Given the description of an element on the screen output the (x, y) to click on. 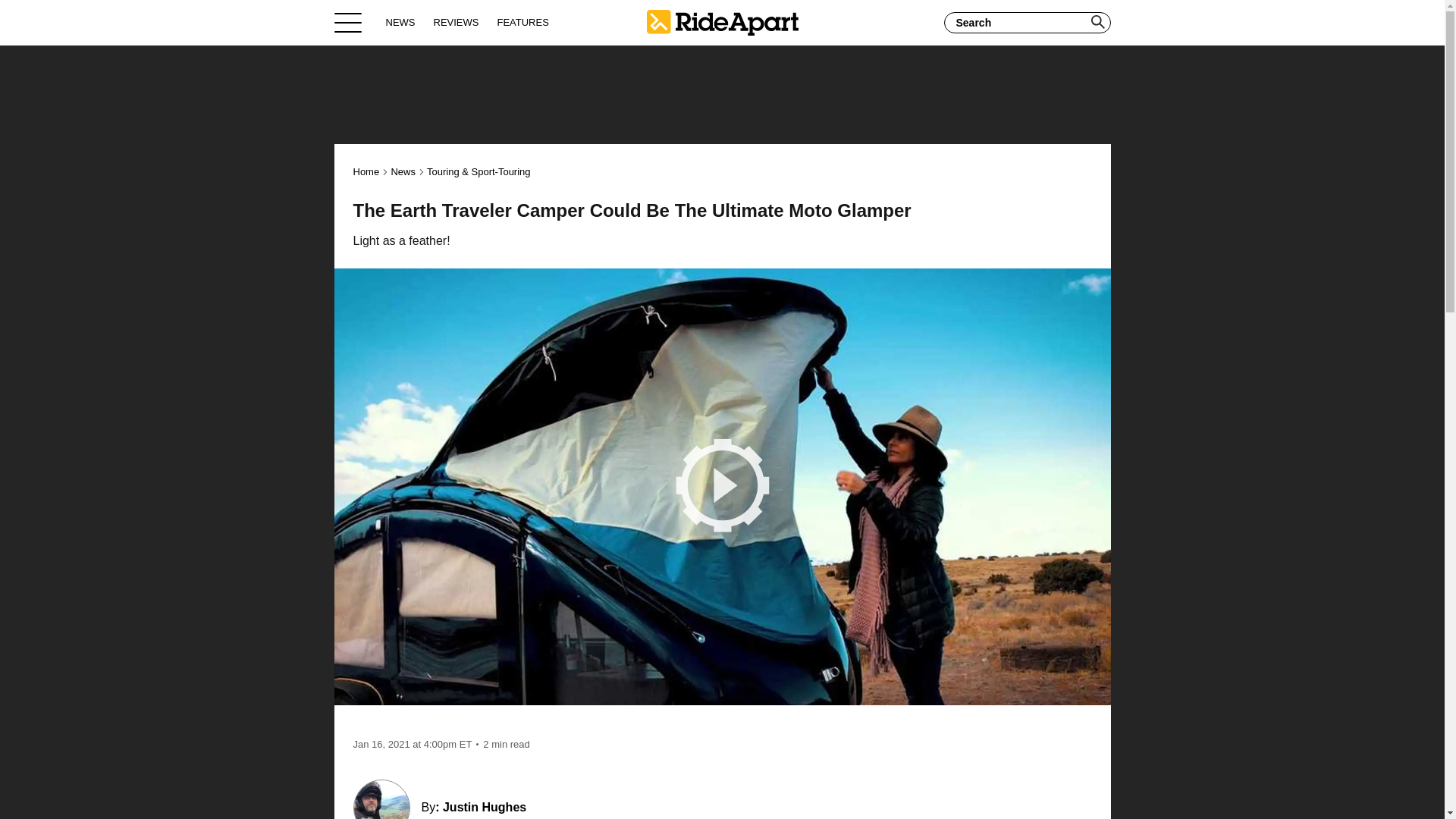
Home (366, 171)
News (402, 171)
Home (721, 22)
REVIEWS (456, 22)
NEWS (399, 22)
Justin Hughes (483, 807)
FEATURES (522, 22)
